Given the description of an element on the screen output the (x, y) to click on. 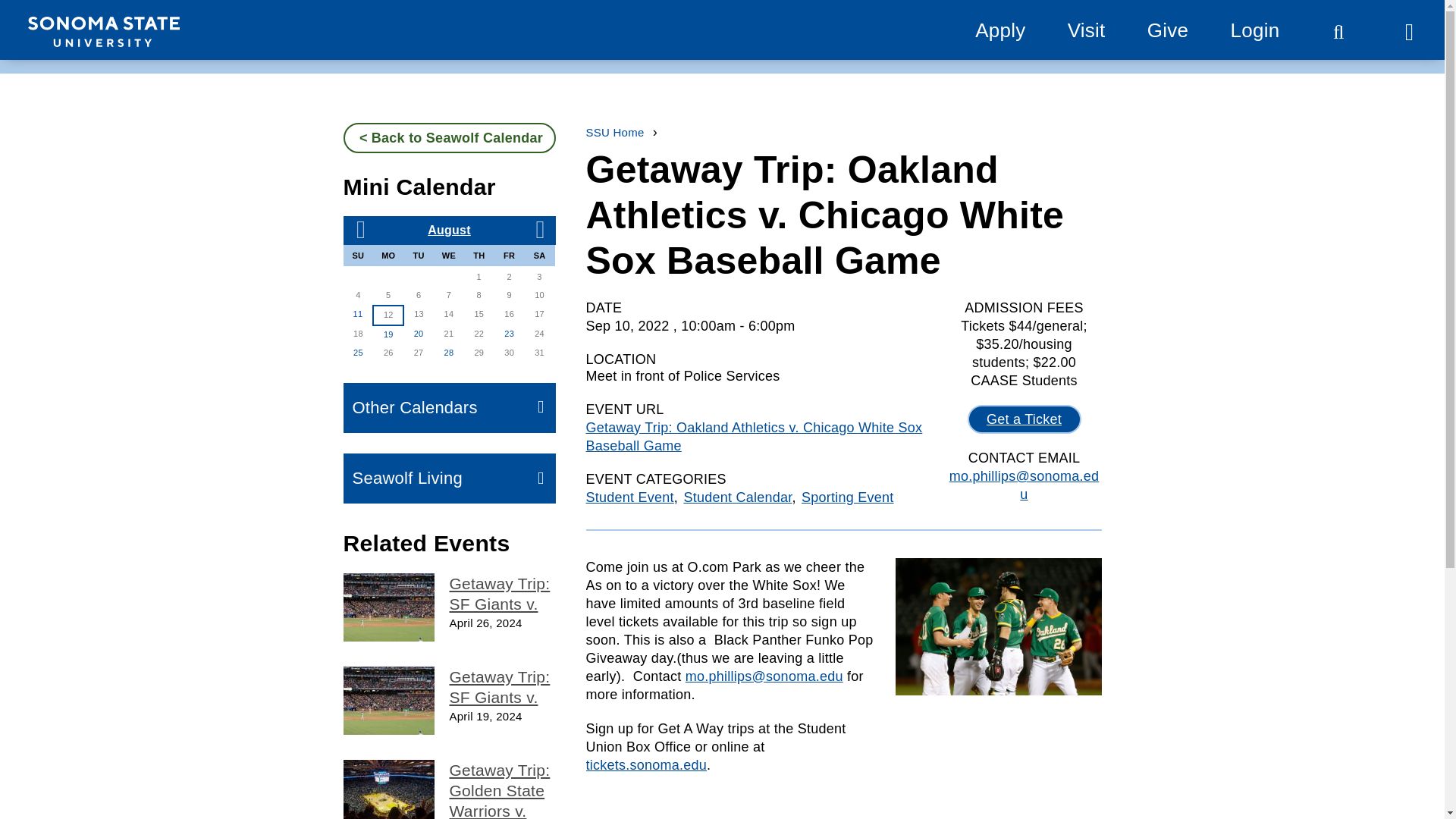
Jump to content (69, 19)
Visit (1086, 30)
Golden State Warriors Stadium (387, 789)
Baseball Game (387, 607)
Apply (1000, 30)
Give (1167, 30)
View full page month (449, 229)
Oakland Athletics  (997, 626)
Login (1254, 30)
Baseball Game (387, 700)
